Given the description of an element on the screen output the (x, y) to click on. 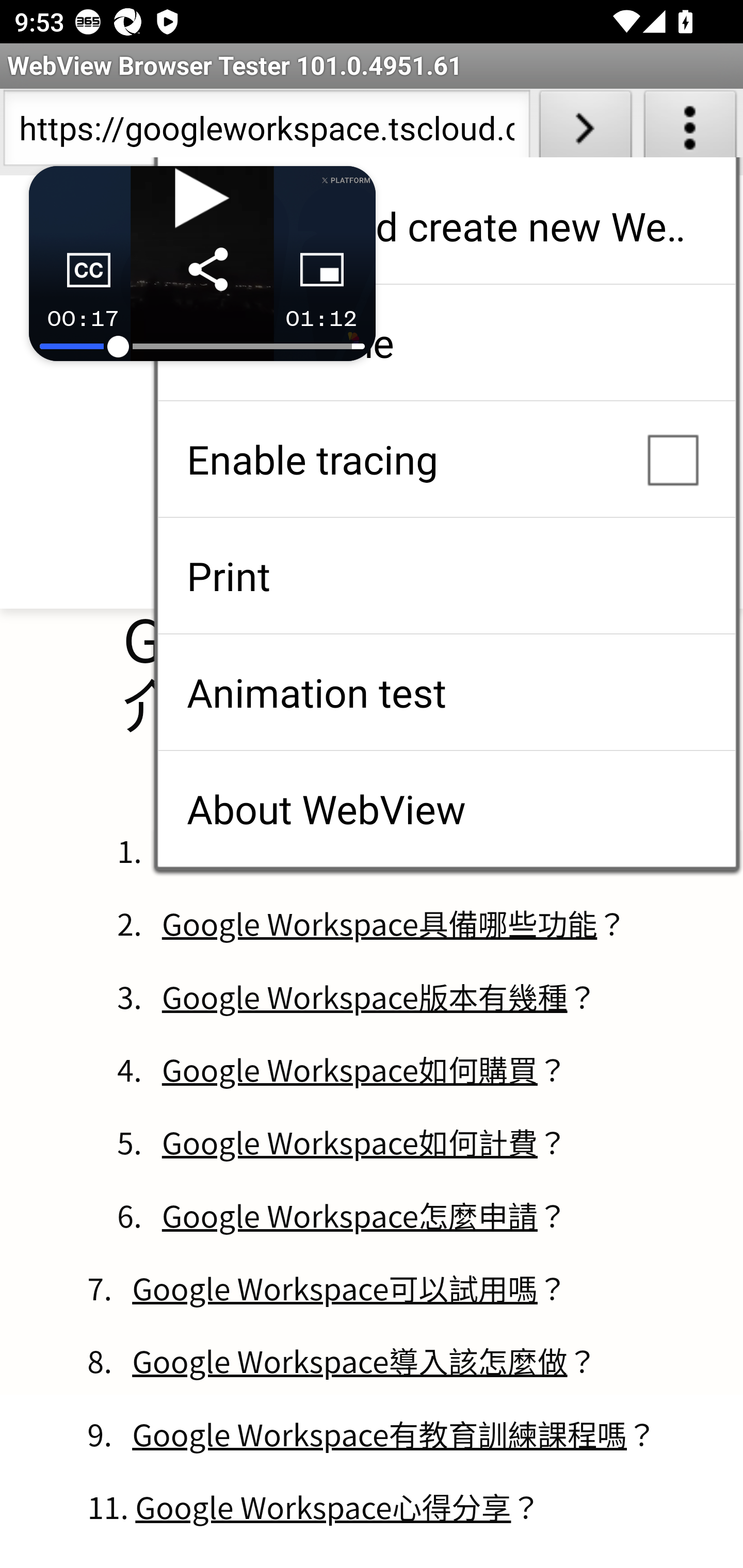
Enable tracing (446, 459)
Print (446, 575)
Animation test (446, 692)
About WebView (446, 809)
